Given the description of an element on the screen output the (x, y) to click on. 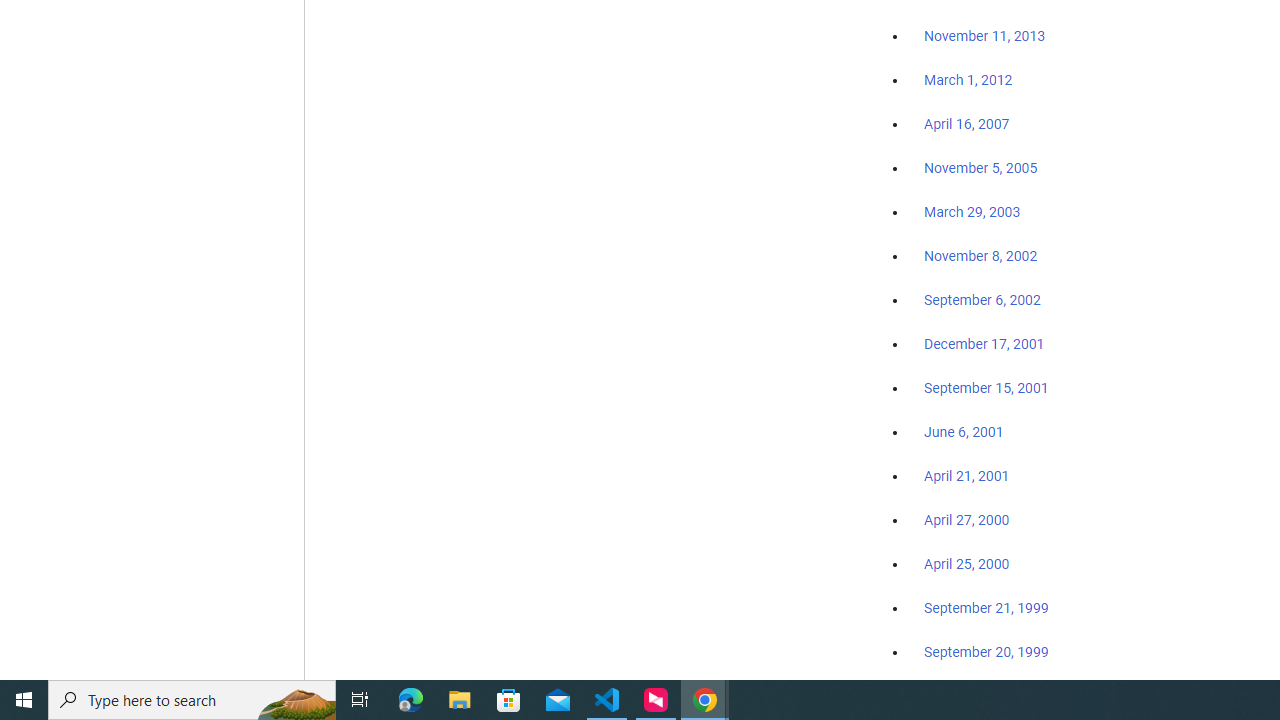
November 5, 2005 (981, 168)
September 15, 2001 (986, 387)
September 20, 1999 (986, 651)
April 21, 2001 (966, 476)
April 27, 2000 (966, 520)
April 25, 2000 (966, 564)
September 21, 1999 (986, 608)
June 6, 2001 (963, 431)
November 8, 2002 (981, 255)
November 11, 2013 (984, 37)
April 16, 2007 (966, 124)
March 1, 2012 (968, 81)
September 6, 2002 (982, 299)
December 17, 2001 (984, 343)
March 29, 2003 (972, 212)
